Given the description of an element on the screen output the (x, y) to click on. 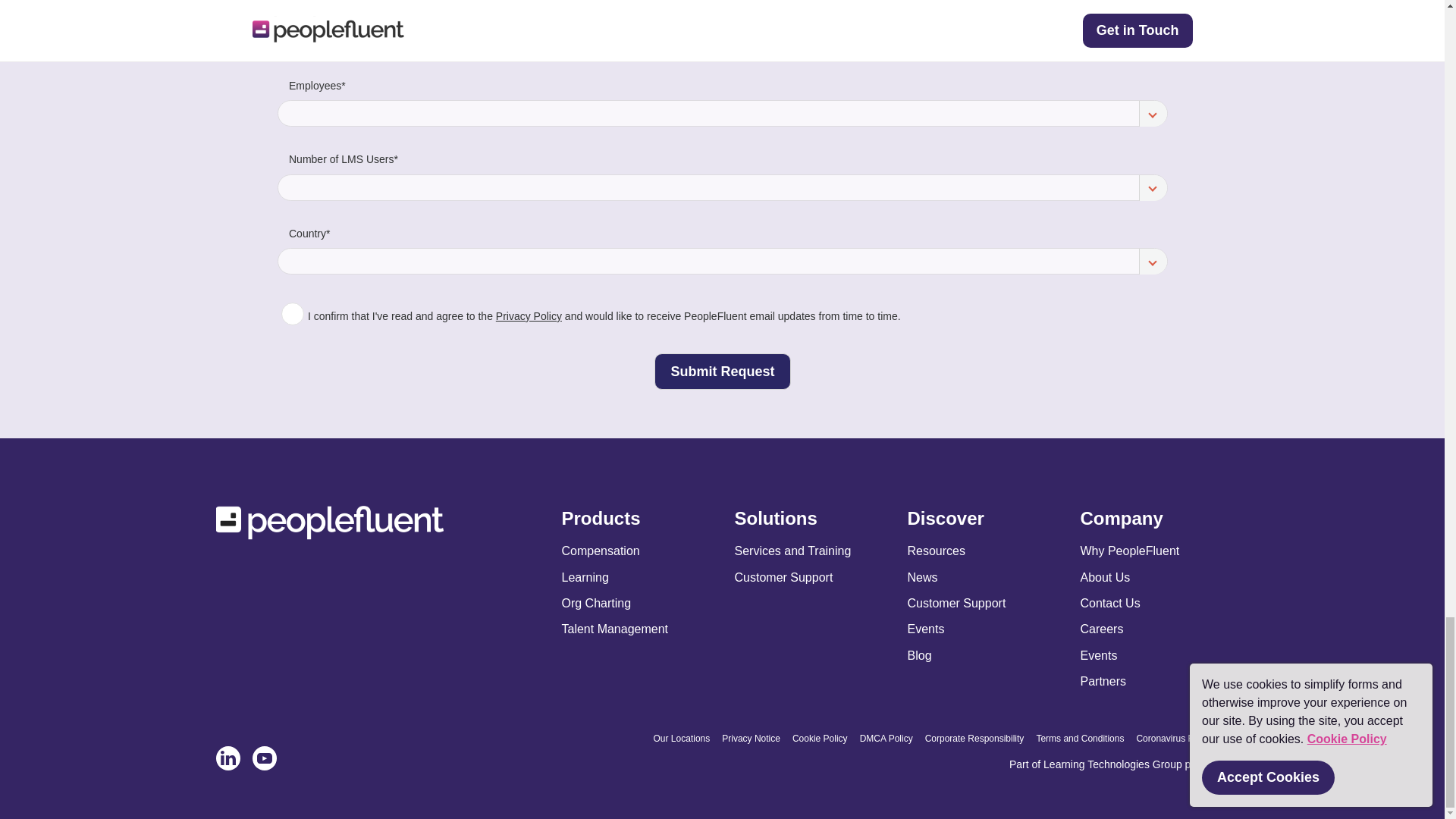
Resources (935, 550)
News (922, 576)
Our Locations (681, 738)
Blog (919, 655)
Events (925, 628)
Learning (584, 576)
Cookie Policy (819, 738)
Contact Us (1110, 603)
Corporate Responsibility (974, 738)
Partners (1102, 680)
Privacy Notice (751, 738)
Coronavirus Response (1181, 738)
Careers (1101, 628)
DMCA Policy (886, 738)
Compensation (599, 550)
